Given the description of an element on the screen output the (x, y) to click on. 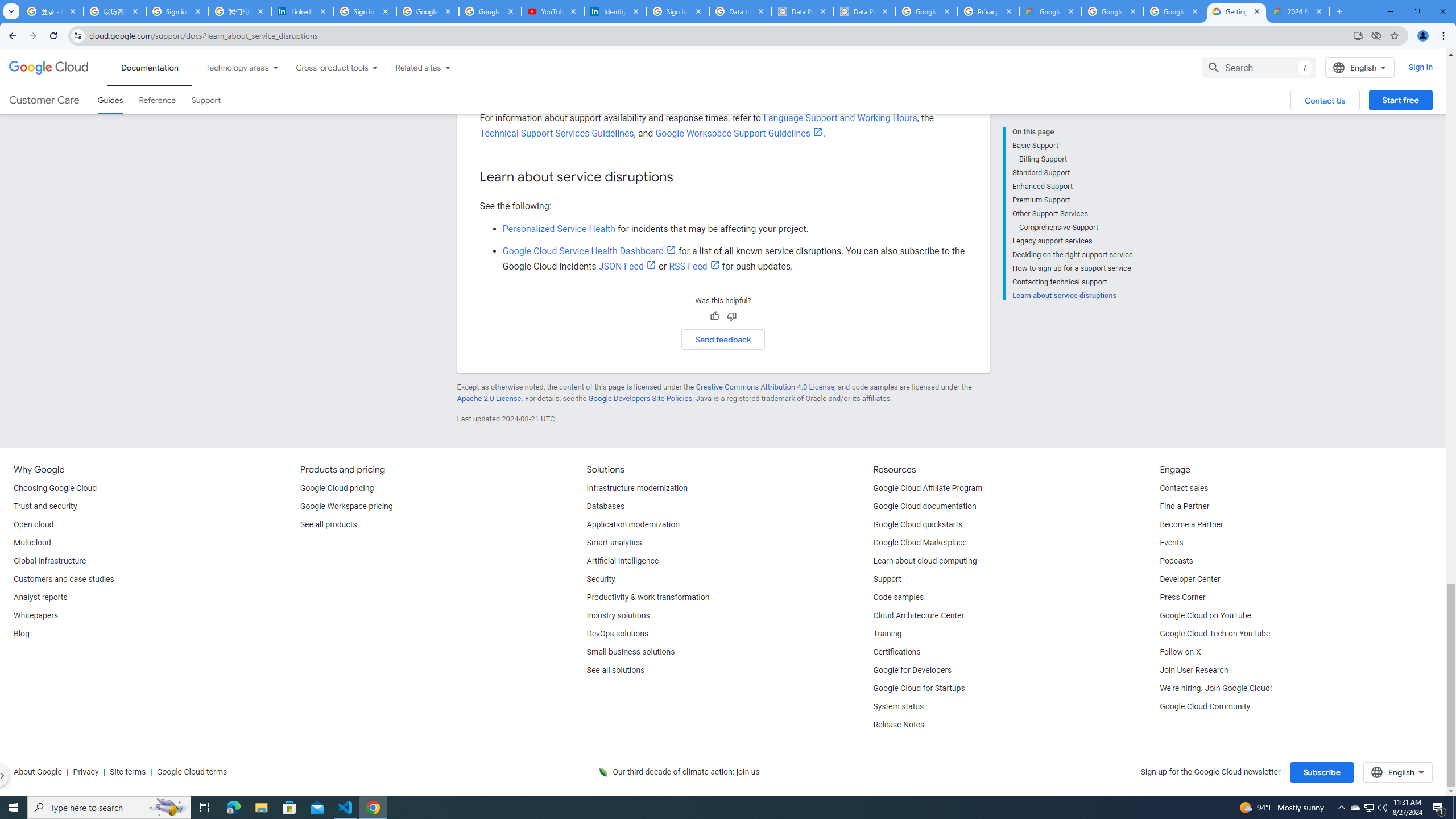
Events (1170, 542)
See all products (327, 524)
Find a Partner (1183, 506)
Become a Partner (1190, 524)
Documentation, selected (149, 67)
Legacy support services (1071, 241)
Google Cloud Terms Directory | Google Cloud (1050, 11)
Google Developers Site Policies (639, 397)
Sign in - Google Accounts (365, 11)
Deciding on the right support service (1071, 254)
Related sites (411, 67)
Security (600, 579)
LinkedIn Privacy Policy (302, 11)
